Given the description of an element on the screen output the (x, y) to click on. 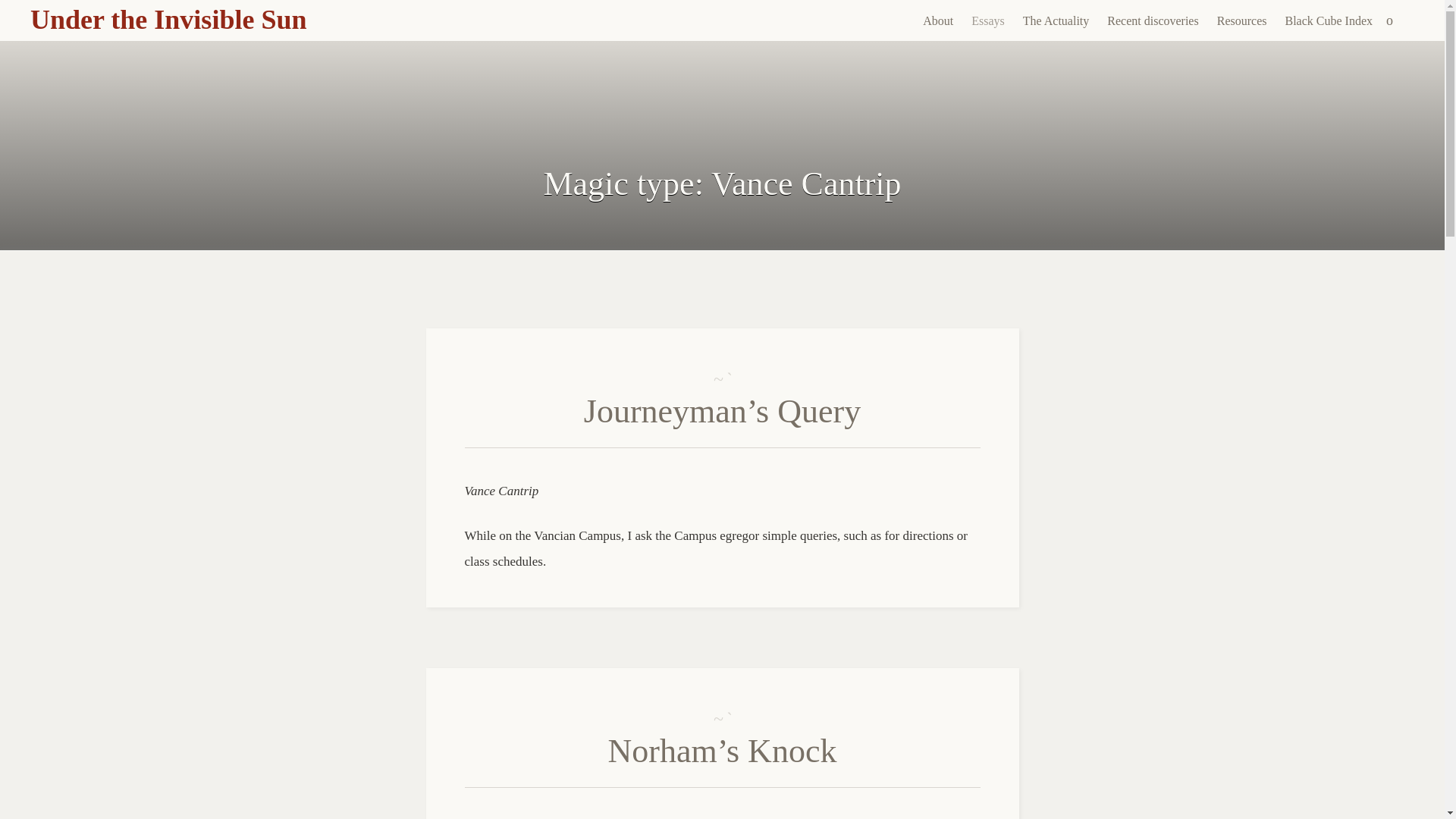
Under the Invisible Sun (167, 19)
The Actuality (1055, 21)
Recent discoveries (1152, 21)
Essays (987, 21)
Resources (1242, 21)
About (937, 21)
Under the Invisible Sun (167, 19)
Search (11, 9)
Black Cube Index (1328, 21)
